Given the description of an element on the screen output the (x, y) to click on. 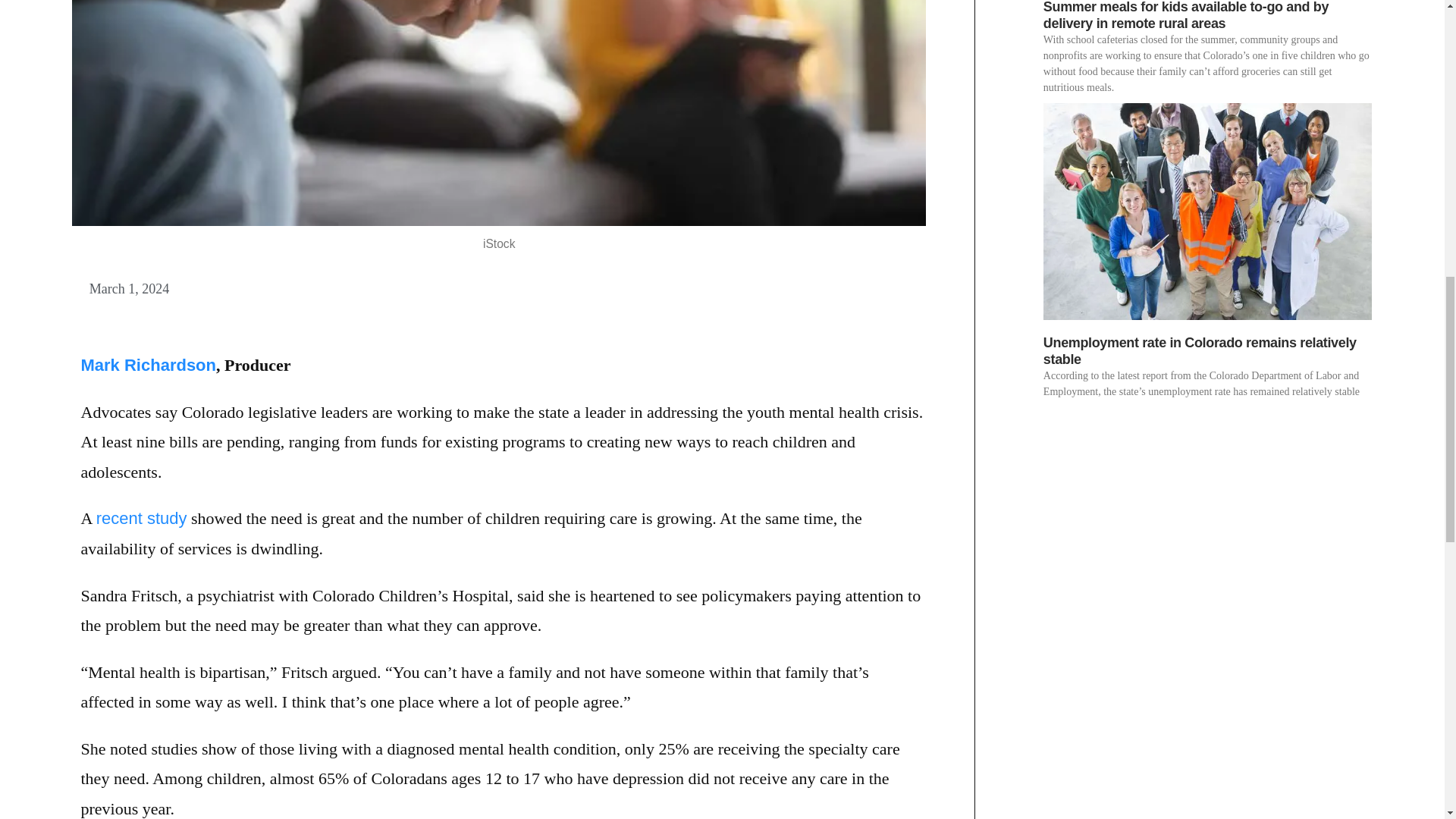
recent study (141, 517)
Mark Richardson (147, 364)
Unemployment rate in Colorado remains relatively stable (1199, 350)
